Given the description of an element on the screen output the (x, y) to click on. 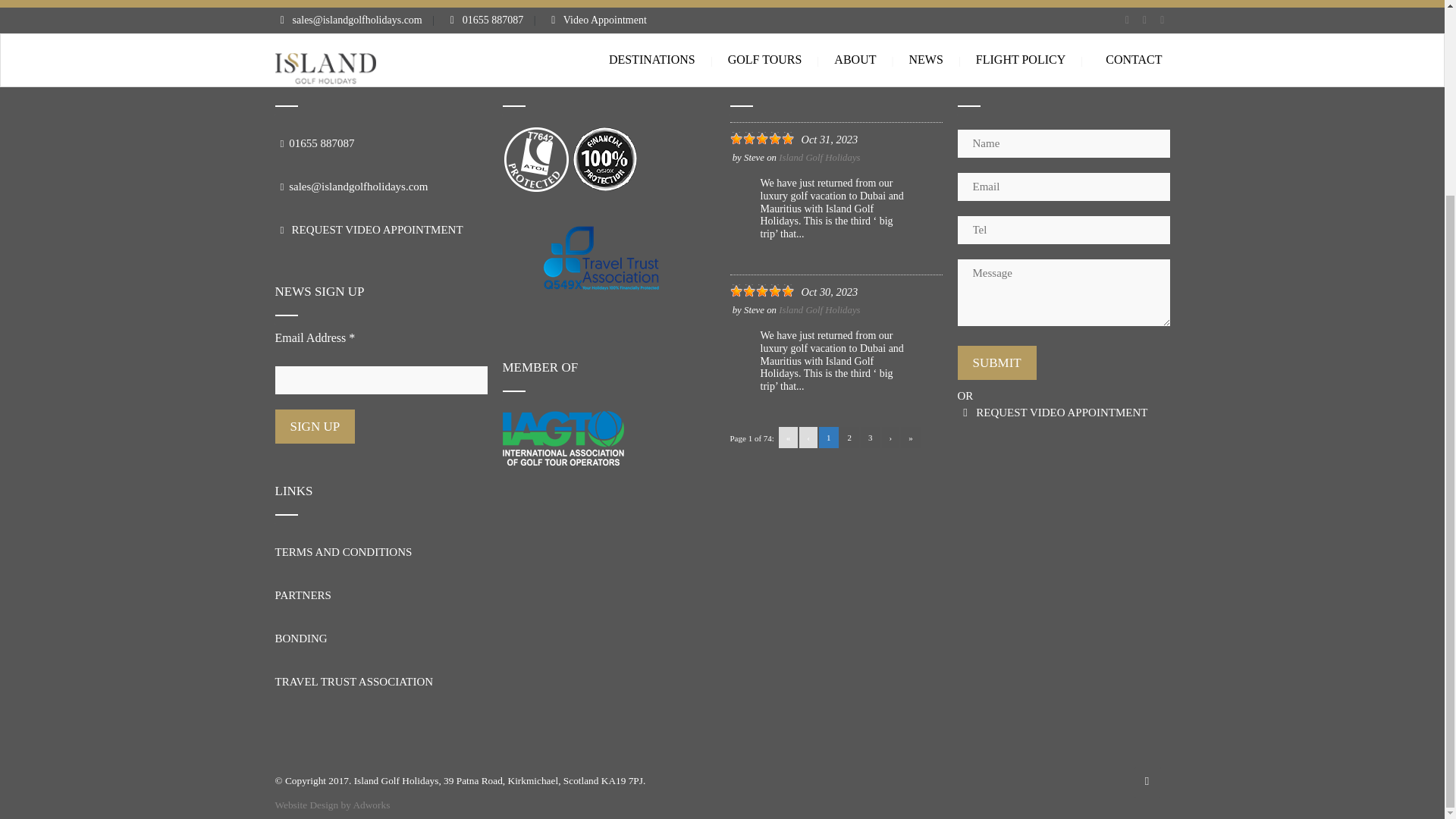
SUBMIT (995, 362)
SIGN UP (315, 426)
